Given the description of an element on the screen output the (x, y) to click on. 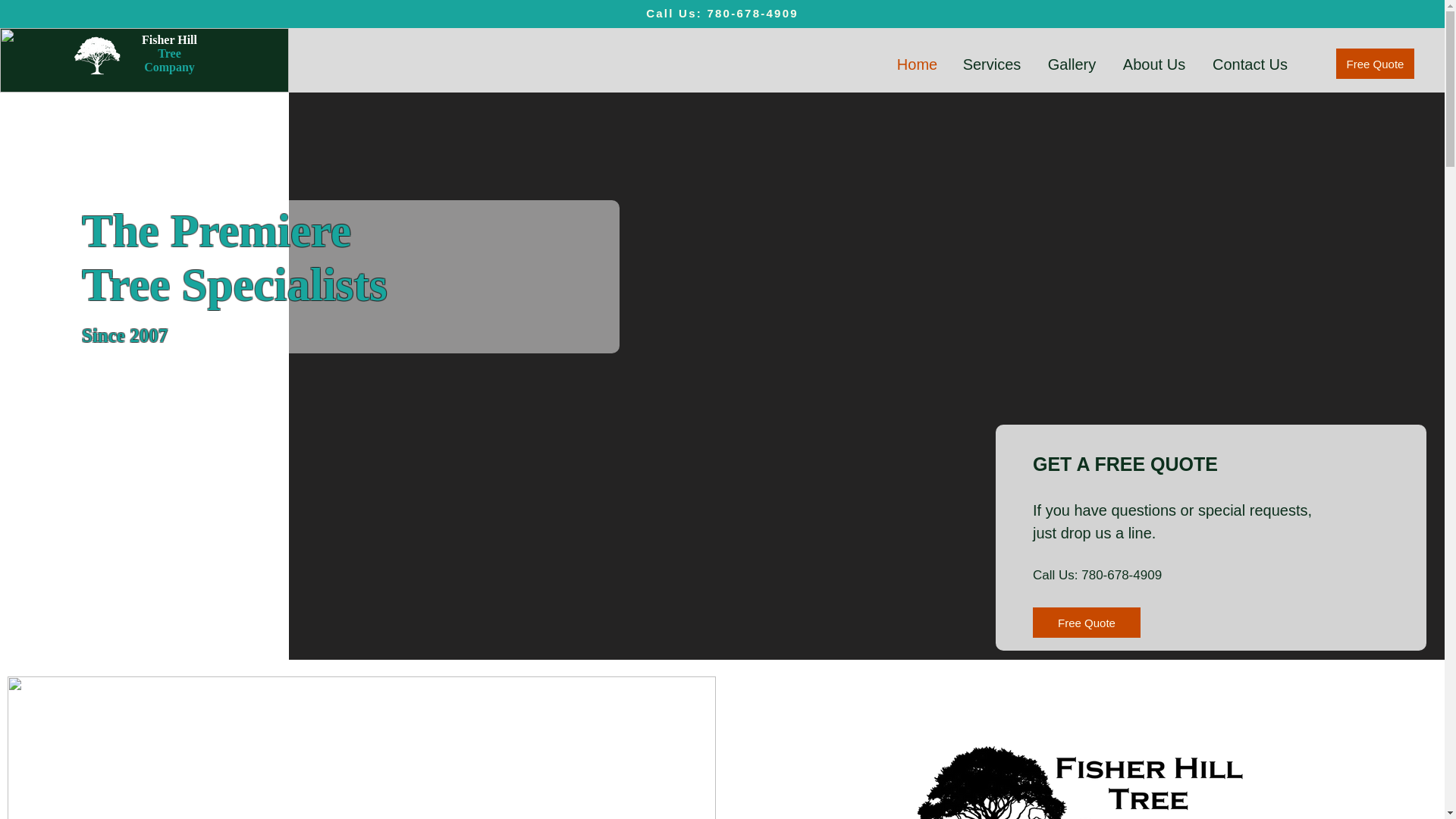
Contact Us (1249, 64)
About Us (1153, 64)
Fisher Hill (168, 39)
Free Quote (1374, 63)
Gallery (1071, 64)
Free Quote (1086, 622)
780-678-4909 (751, 12)
Home (917, 64)
Services (991, 64)
